Given the description of an element on the screen output the (x, y) to click on. 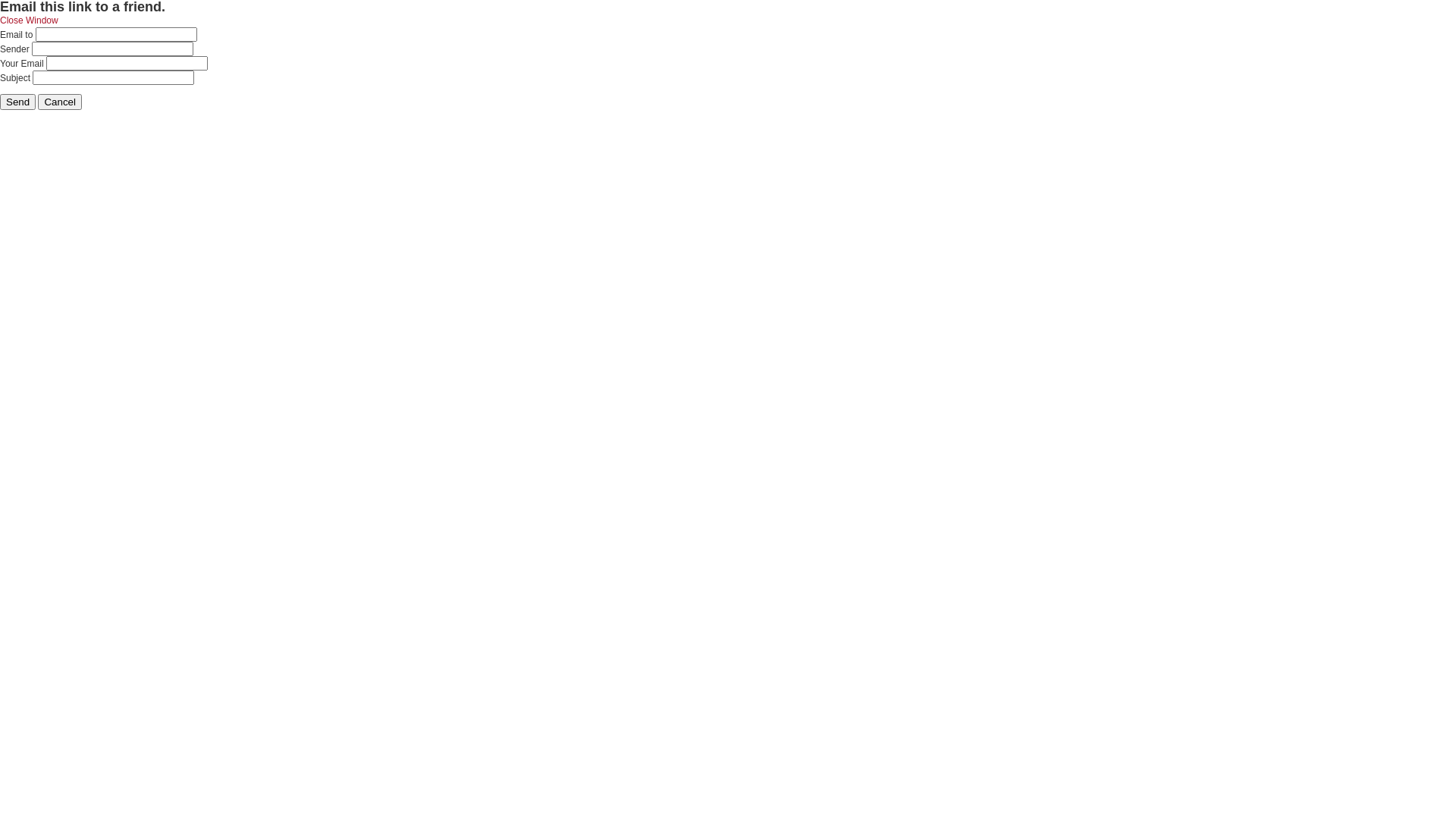
Close Window Element type: text (29, 20)
Cancel Element type: text (59, 101)
Send Element type: text (17, 101)
